Given the description of an element on the screen output the (x, y) to click on. 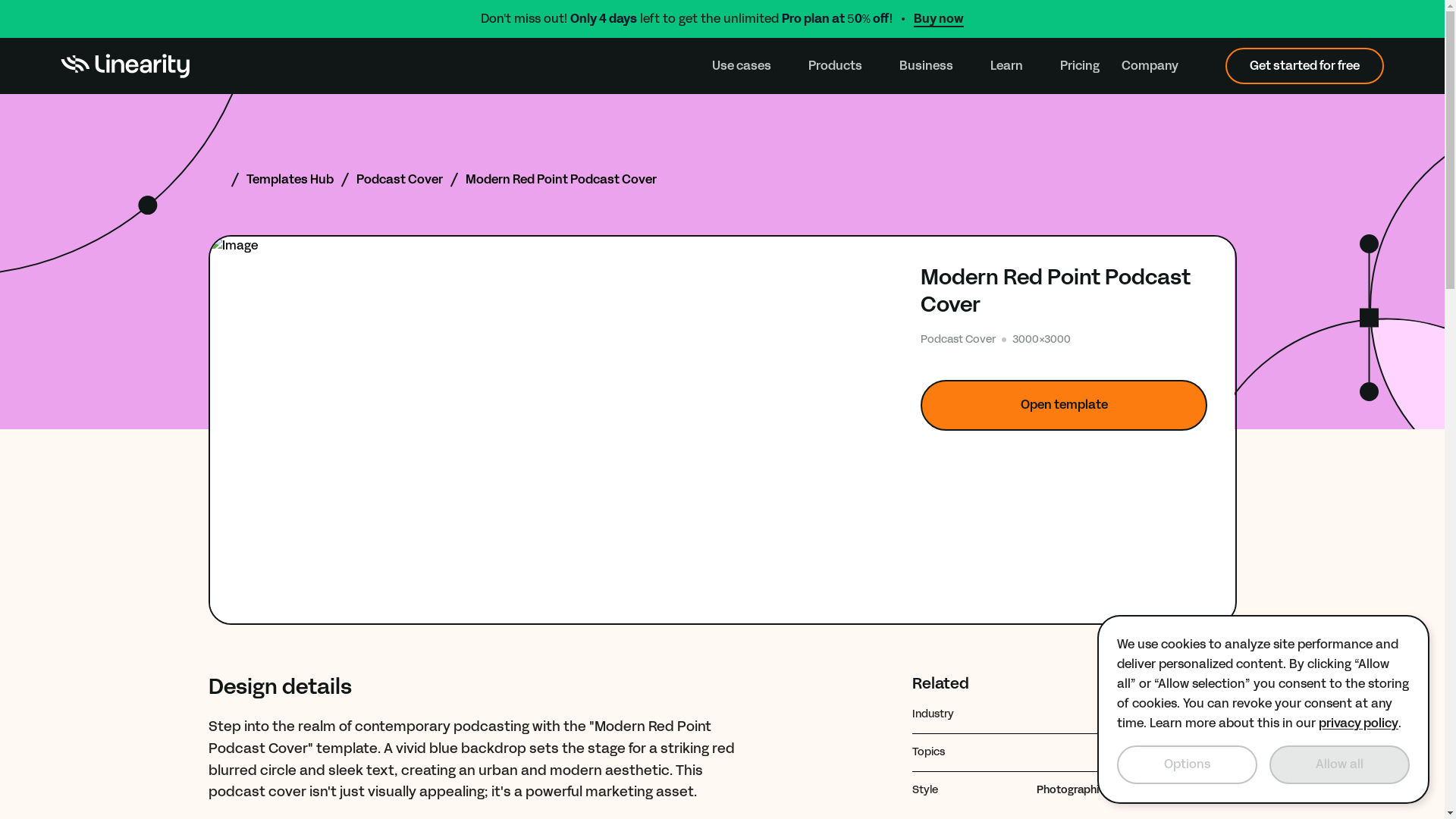
Get started for free (1304, 65)
Templates Hub (289, 179)
Business (933, 66)
Options (1186, 764)
Learn (1014, 66)
Pricing (1079, 66)
Open template (1064, 405)
Podcast Cover (399, 179)
Use cases (748, 66)
privacy policy (1358, 723)
Allow all (1339, 764)
Buy now (938, 18)
Company (1157, 66)
Products (842, 66)
Linearity Privacy Policy (1358, 723)
